Given the description of an element on the screen output the (x, y) to click on. 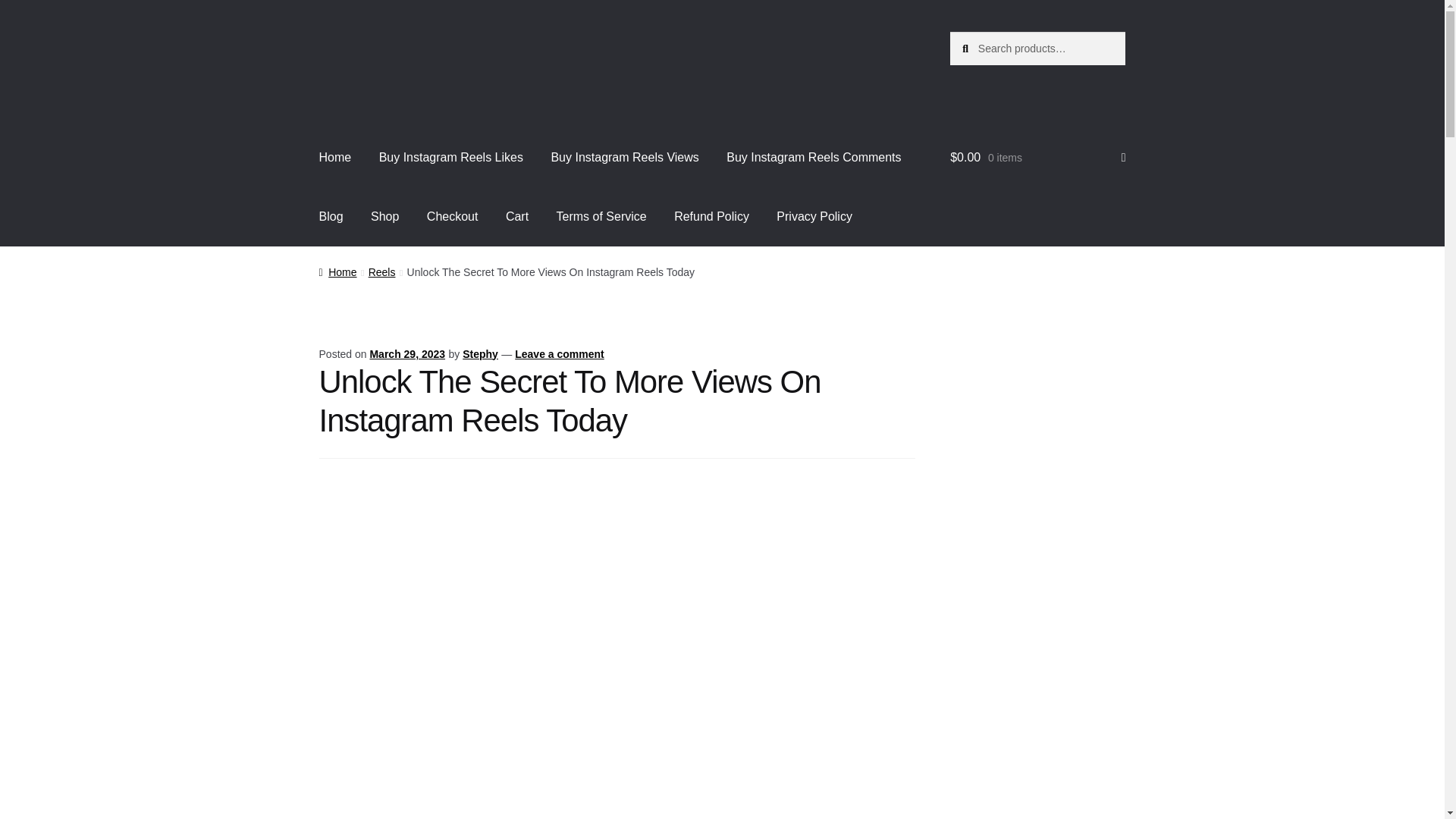
Refund Policy (711, 216)
Home (335, 157)
Buy Instagram Reels Comments (813, 157)
Checkout (452, 216)
Privacy Policy (814, 216)
Leave a comment (559, 354)
Buy Instagram Reels Views (624, 157)
Buy Instagram Reels Likes (450, 157)
Terms of Service (601, 216)
Reels (382, 272)
Home (337, 272)
Stephy (480, 354)
View your shopping cart (1037, 157)
March 29, 2023 (407, 354)
